Given the description of an element on the screen output the (x, y) to click on. 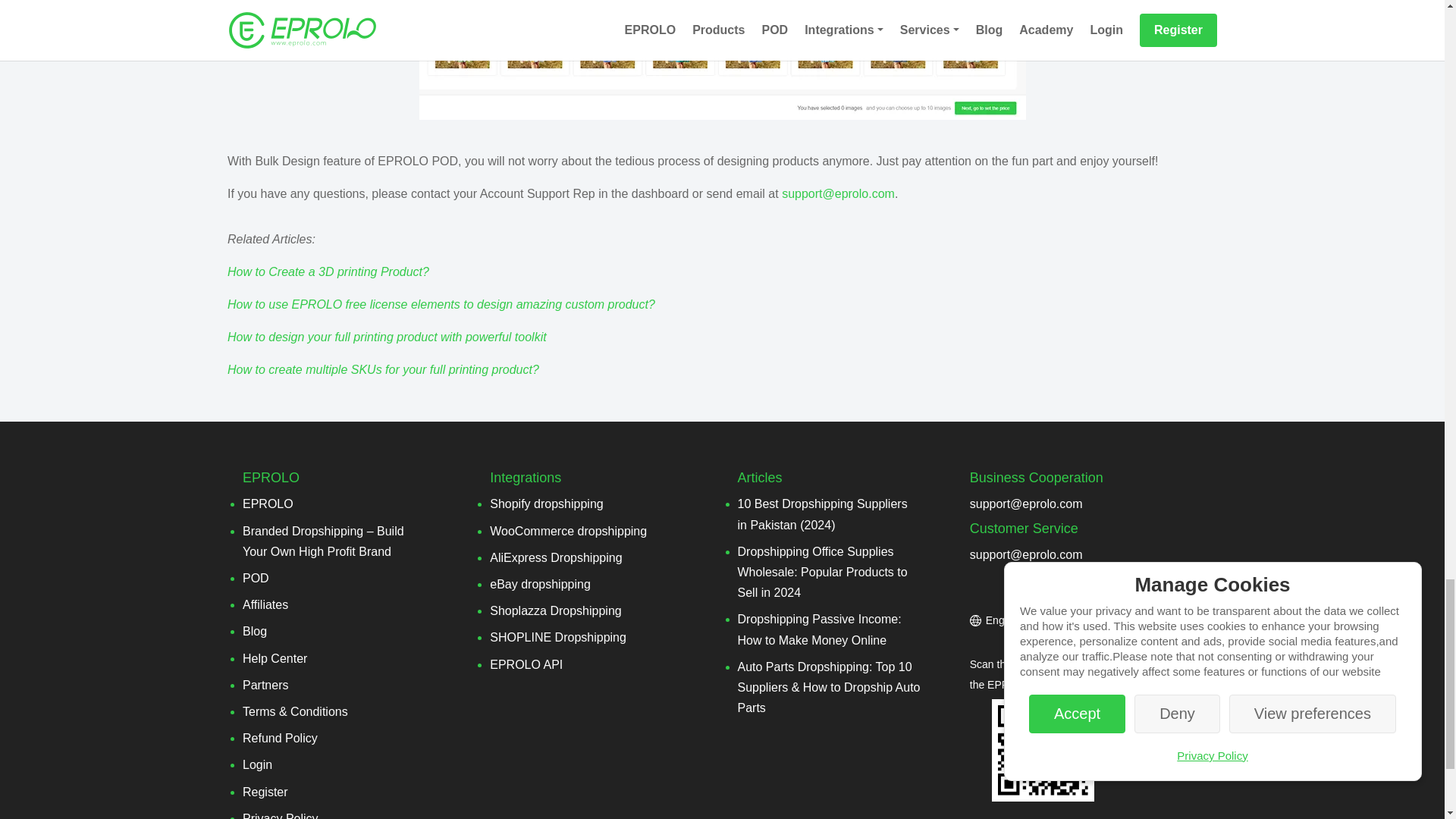
How to Create a 3D printing Product? (328, 271)
Blog (254, 631)
Refund Policy (280, 738)
Partners (265, 684)
EPROLO (268, 503)
products (722, 59)
How to create multiple SKUs for your full printing product? (382, 369)
Help Center (275, 658)
POD (256, 577)
Affiliates (265, 604)
